Given the description of an element on the screen output the (x, y) to click on. 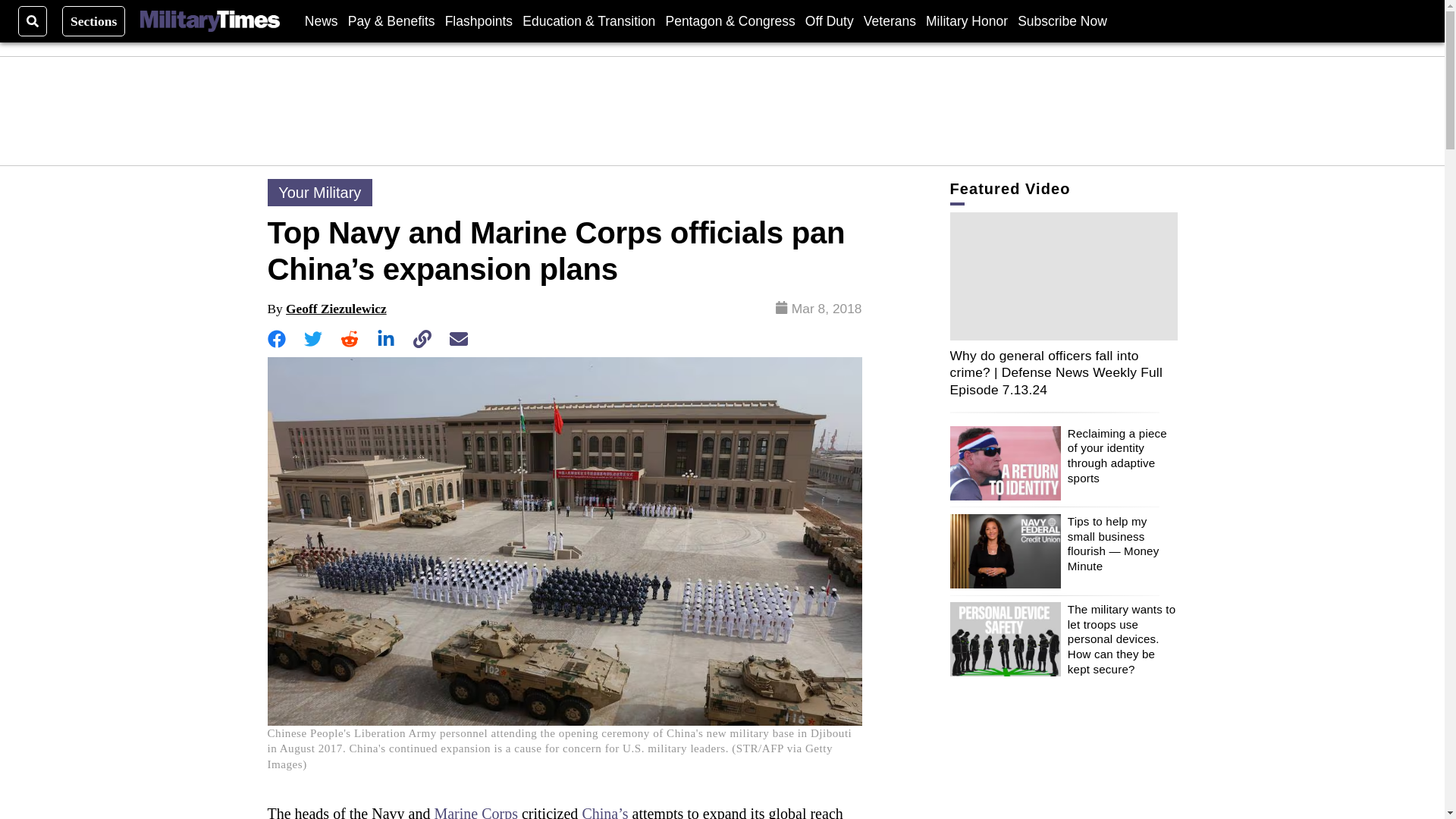
Military Times Logo (209, 20)
3rd party ad content (722, 110)
Military Honor (966, 20)
Flashpoints (479, 20)
Veterans (889, 20)
Off Duty (829, 20)
Sections (93, 20)
News (320, 20)
